Given the description of an element on the screen output the (x, y) to click on. 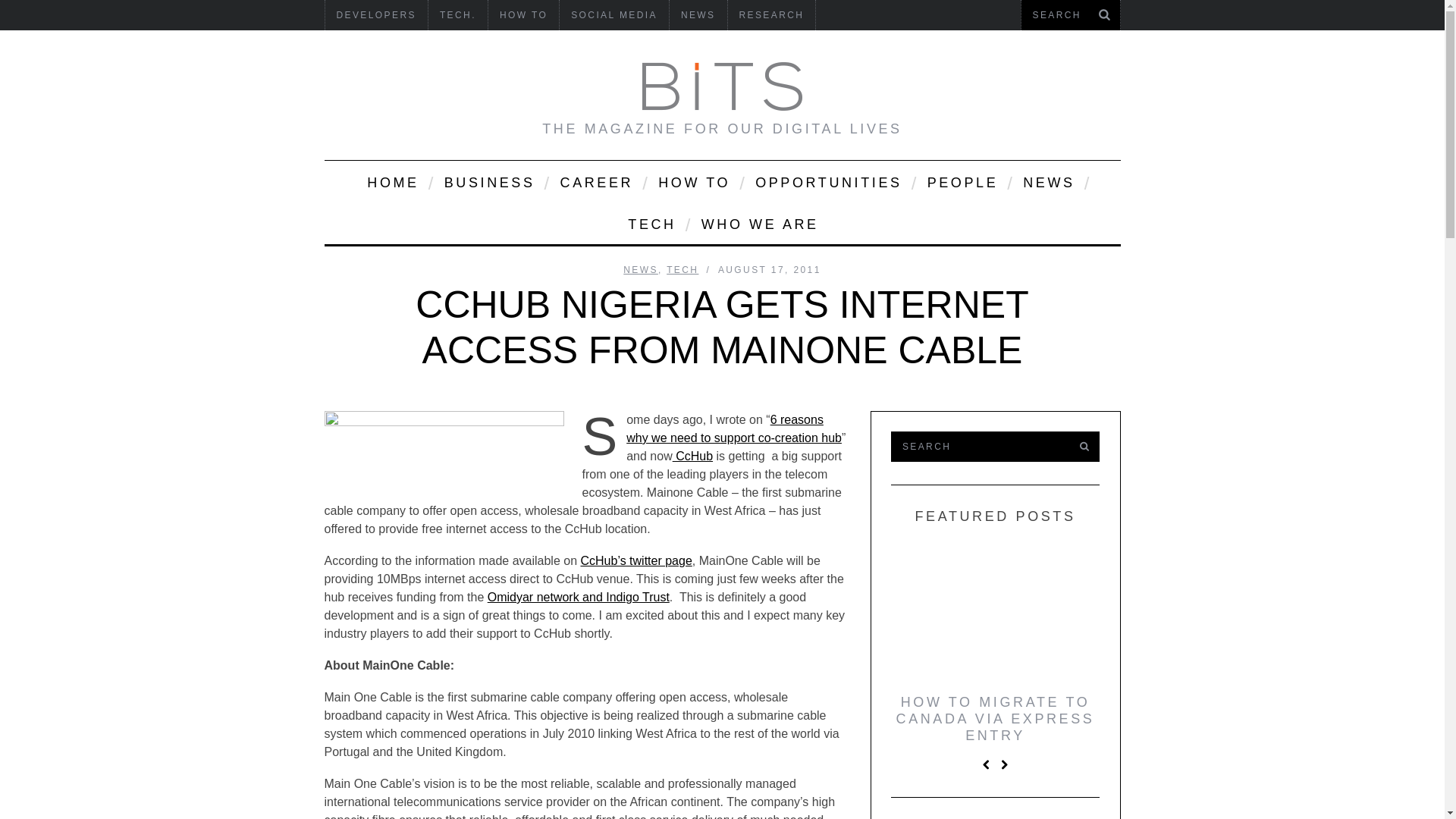
cchub (444, 454)
Omidyar Network Funds CcHub Nigeria (578, 596)
6 Reasons Why We Need to Support Co-creation Hub (733, 428)
Search (976, 446)
CcHub Twitter page (635, 560)
BITS - THE MAGAZINE FOR OUR DIGITAL LIVES (722, 86)
Co-creation Hub Launches in Nigeria (692, 455)
Search (1070, 15)
